Given the description of an element on the screen output the (x, y) to click on. 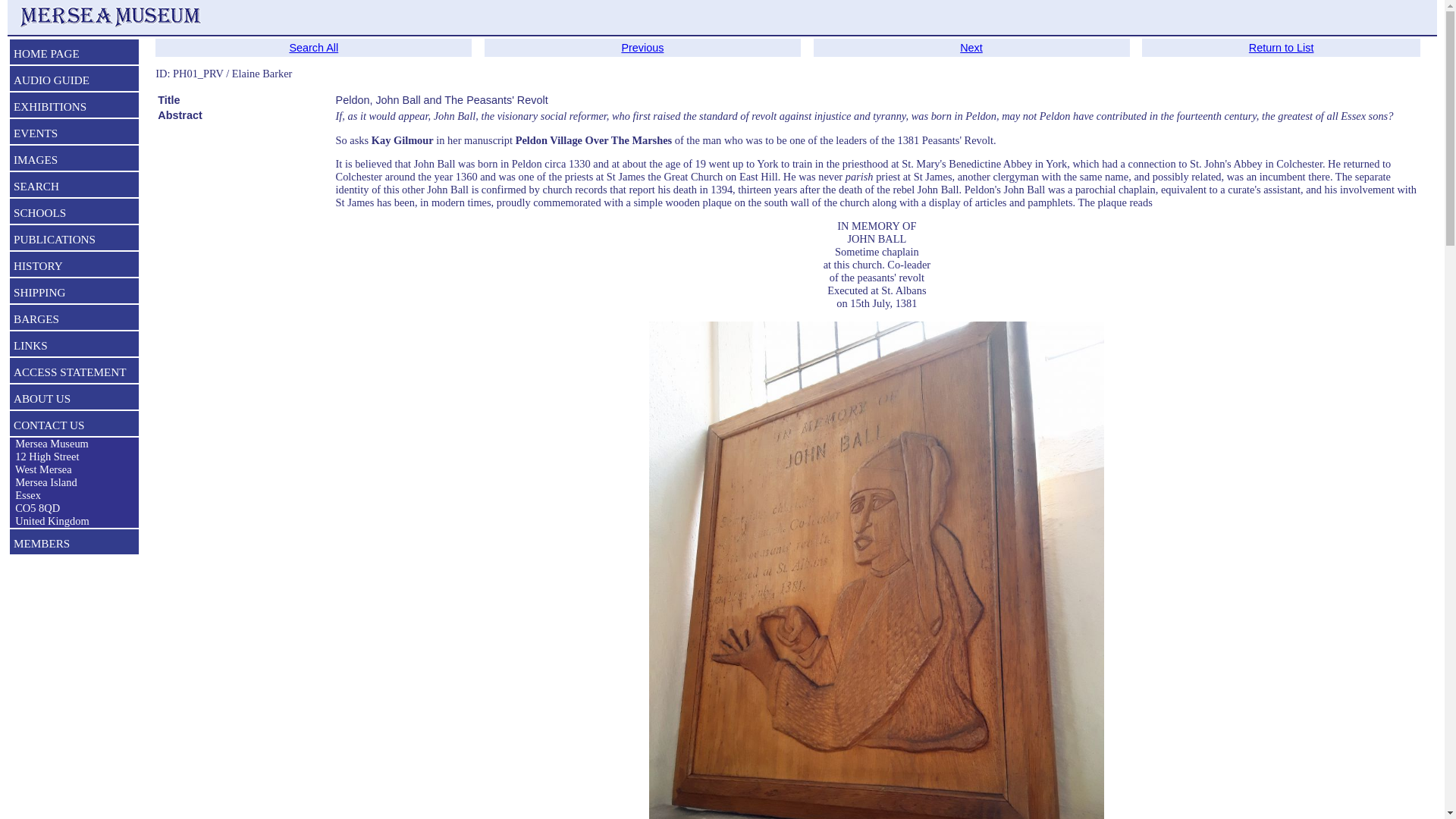
SHIPPING (74, 293)
HOME PAGE (74, 55)
EVENTS (74, 134)
HISTORY (74, 267)
EXHIBITIONS (74, 108)
AUDIO GUIDE (74, 81)
PUBLICATIONS (74, 241)
SEARCH (74, 187)
SCHOOLS (74, 214)
IMAGES (74, 160)
